Given the description of an element on the screen output the (x, y) to click on. 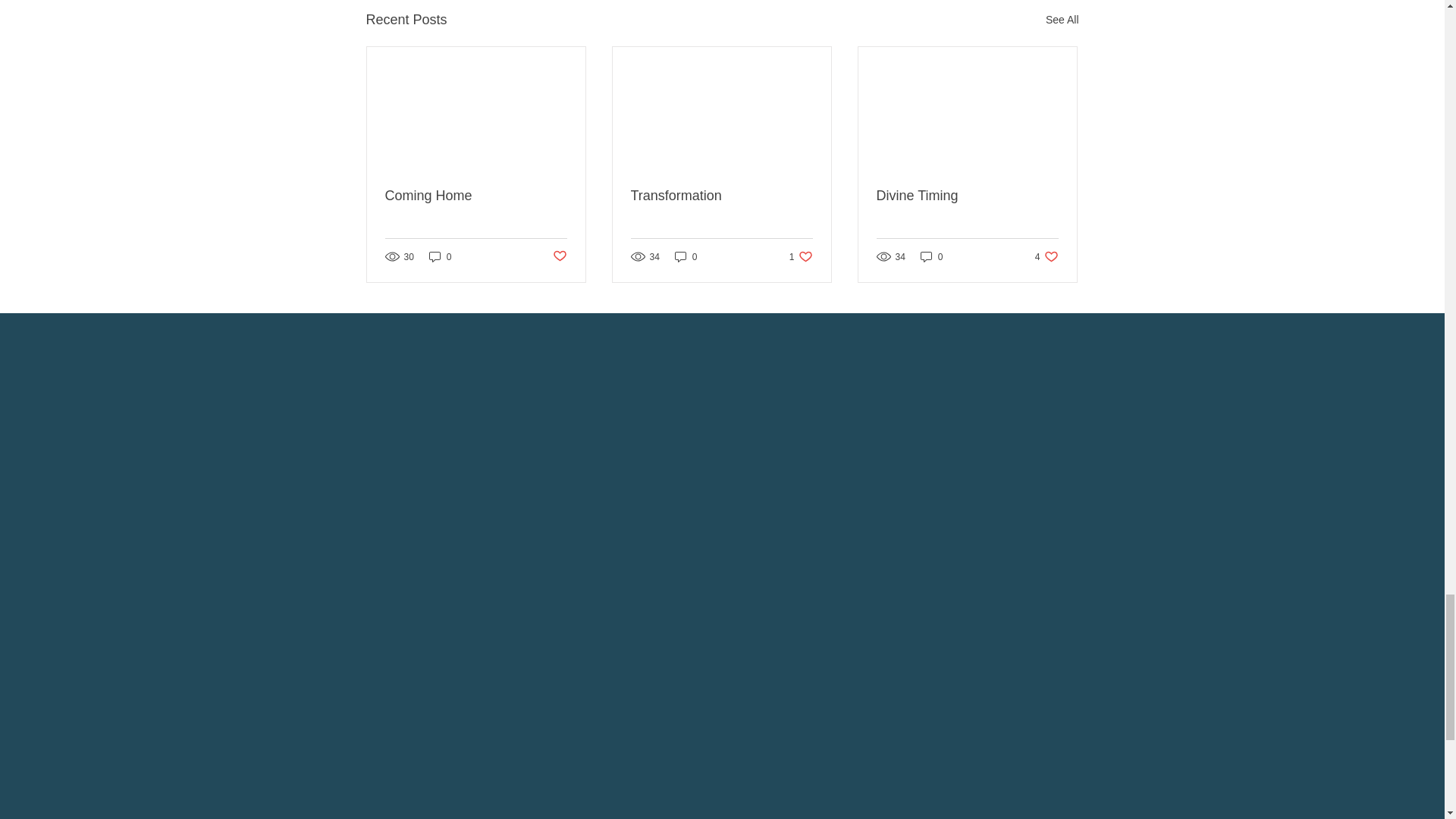
0 (800, 256)
Post not marked as liked (685, 256)
See All (558, 256)
0 (1061, 20)
Transformation (440, 256)
Coming Home (721, 195)
0 (476, 195)
Divine Timing (931, 256)
